Given the description of an element on the screen output the (x, y) to click on. 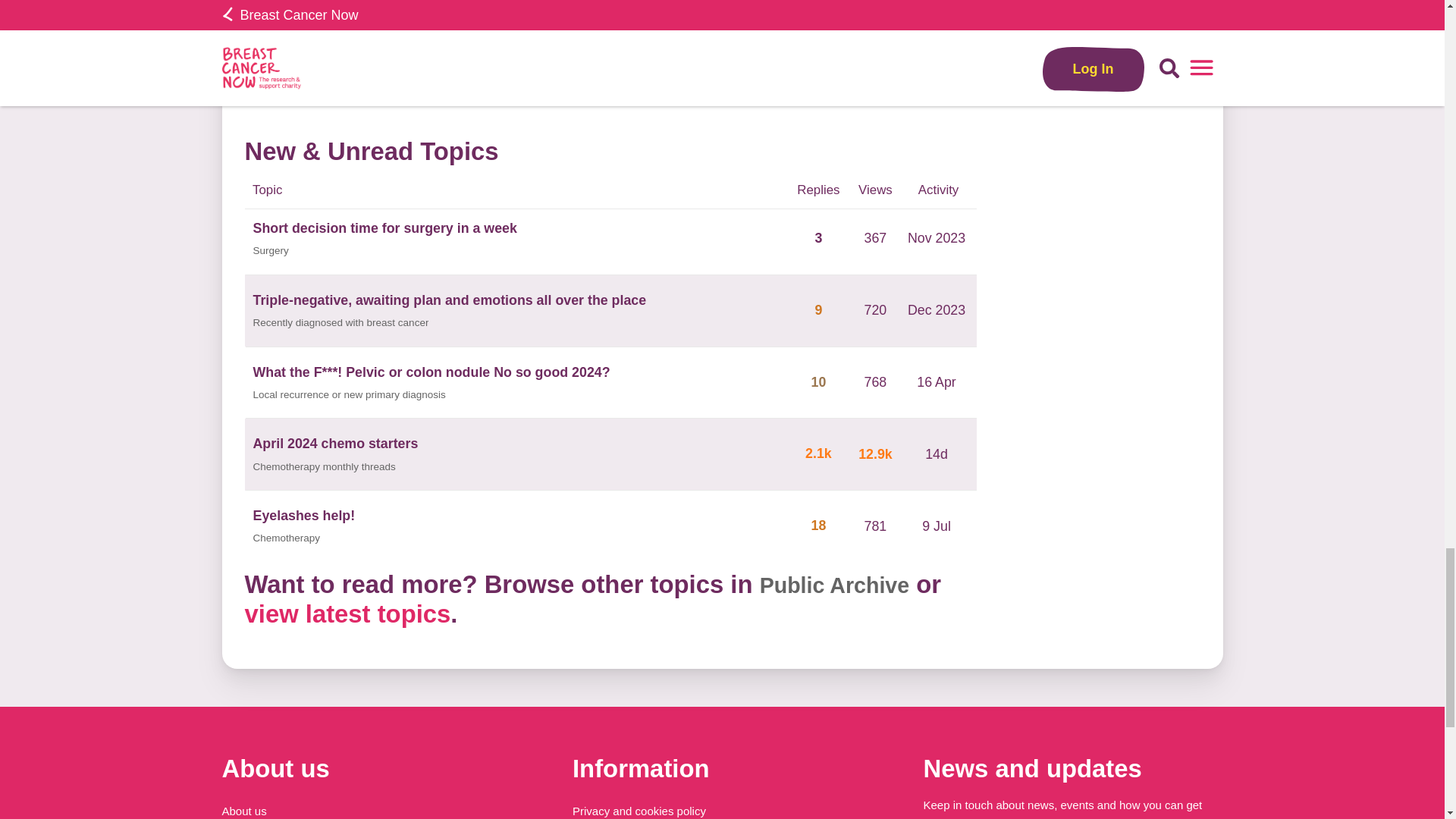
Surgery (270, 251)
Reply (767, 80)
Short decision time for surgery in a week (384, 228)
